Given the description of an element on the screen output the (x, y) to click on. 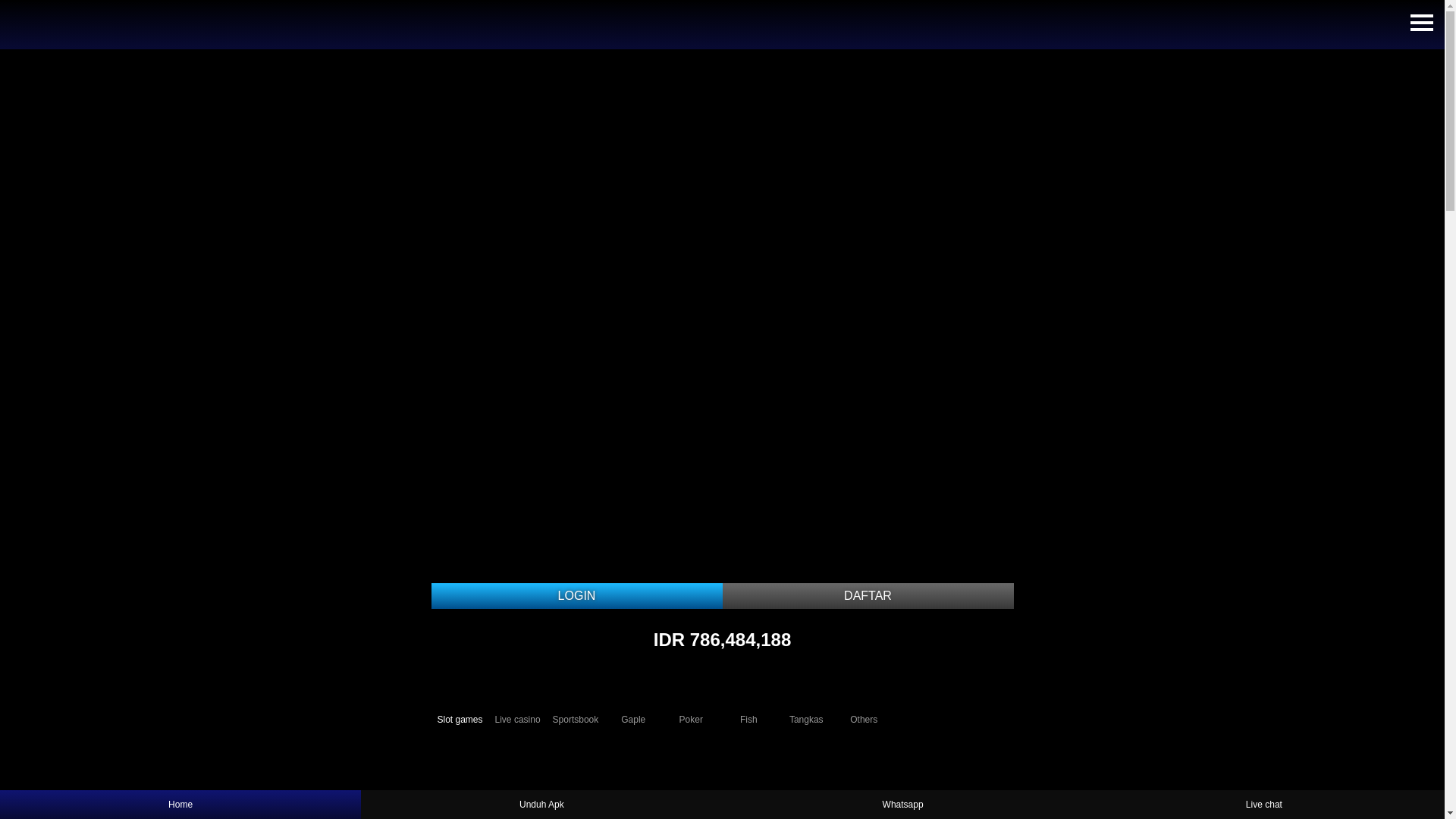
Next item in carousel (1 of 1) Element type: hover (1431, 316)
LOGIN Element type: text (575, 595)
DAFTAR Element type: text (867, 595)
Previous item in carousel (1 of 1) Element type: hover (12, 316)
